Given the description of an element on the screen output the (x, y) to click on. 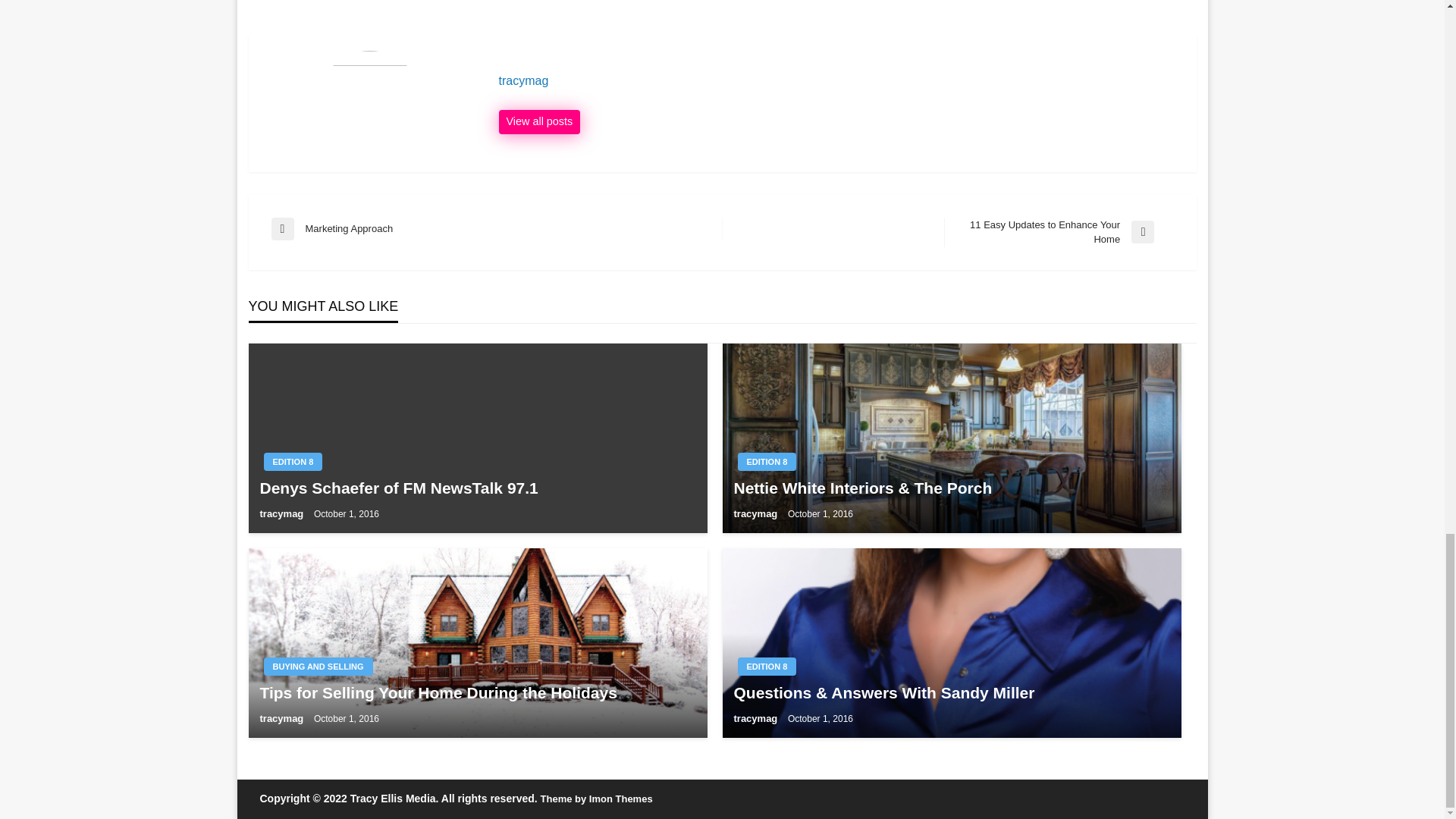
BUYING AND SELLING (317, 666)
tracymag (839, 80)
tracymag (282, 717)
tracymag (282, 513)
EDITION 8 (293, 461)
Tips for Selling Your Home During the Holidays (477, 692)
tracymag (1058, 232)
Denys Schaefer of FM NewsTalk 97.1 (539, 121)
tracymag (477, 487)
tracymag (756, 513)
View all posts (839, 80)
EDITION 8 (539, 121)
